Given the description of an element on the screen output the (x, y) to click on. 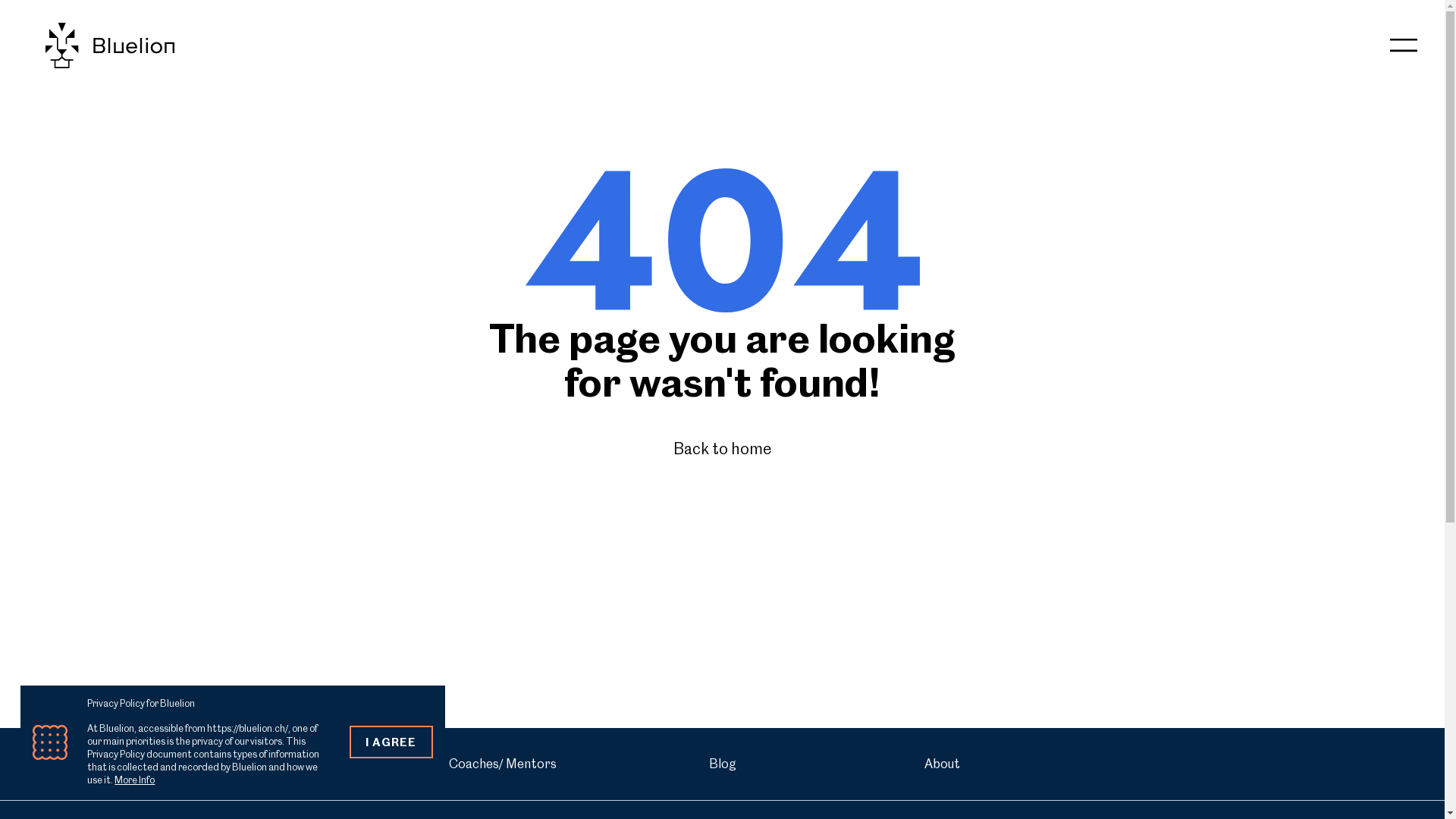
Coaches/ Mentors Element type: text (502, 764)
More Info Element type: text (134, 779)
About Element type: text (942, 764)
Back to home Element type: text (721, 448)
I AGREE Element type: text (391, 741)
Blog Element type: text (722, 764)
